Given the description of an element on the screen output the (x, y) to click on. 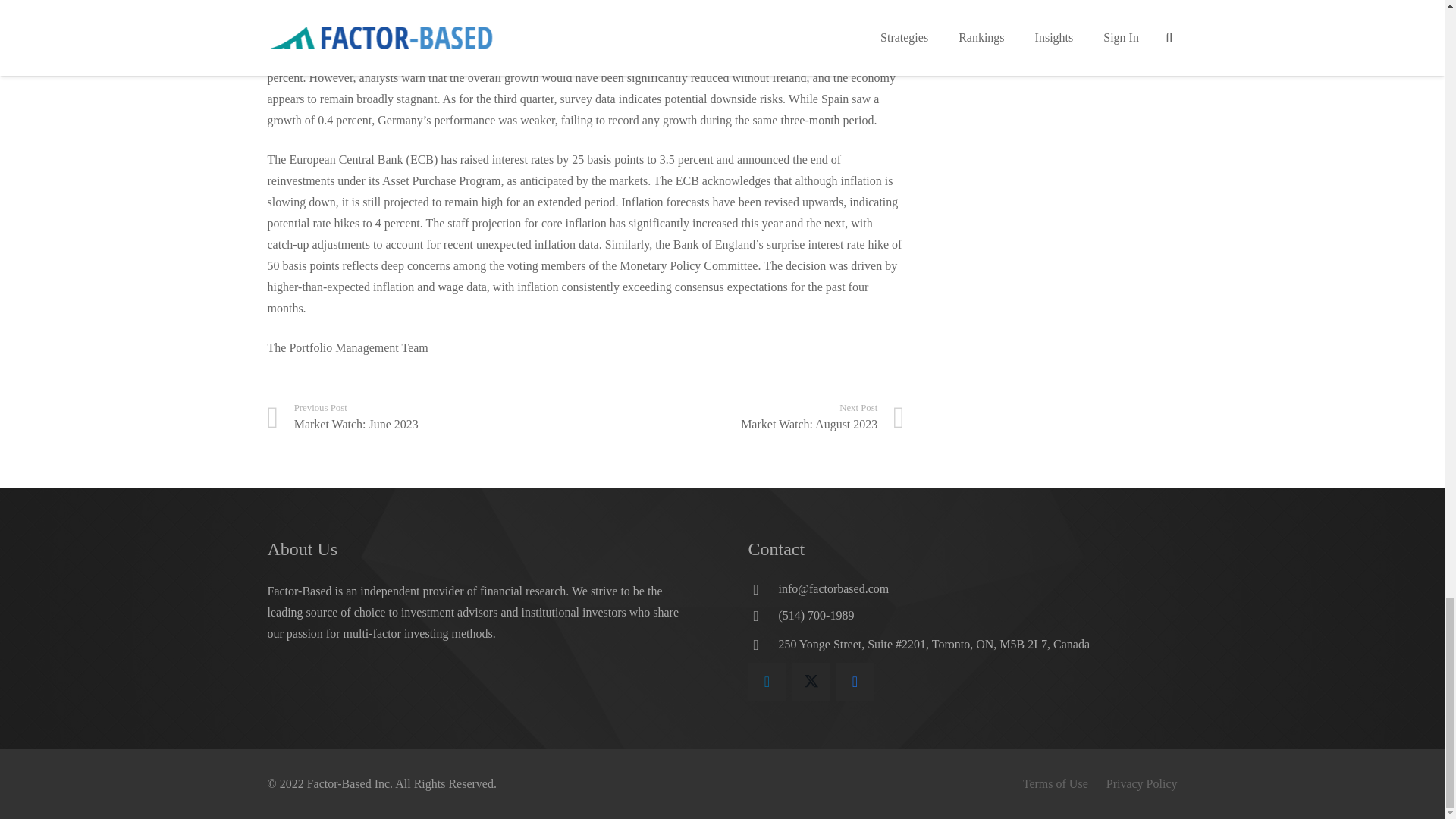
Facebook (854, 681)
Market Watch: August 2023 (425, 417)
LinkedIn (744, 417)
Market Watch: June 2023 (767, 681)
Twitter (425, 417)
